Given the description of an element on the screen output the (x, y) to click on. 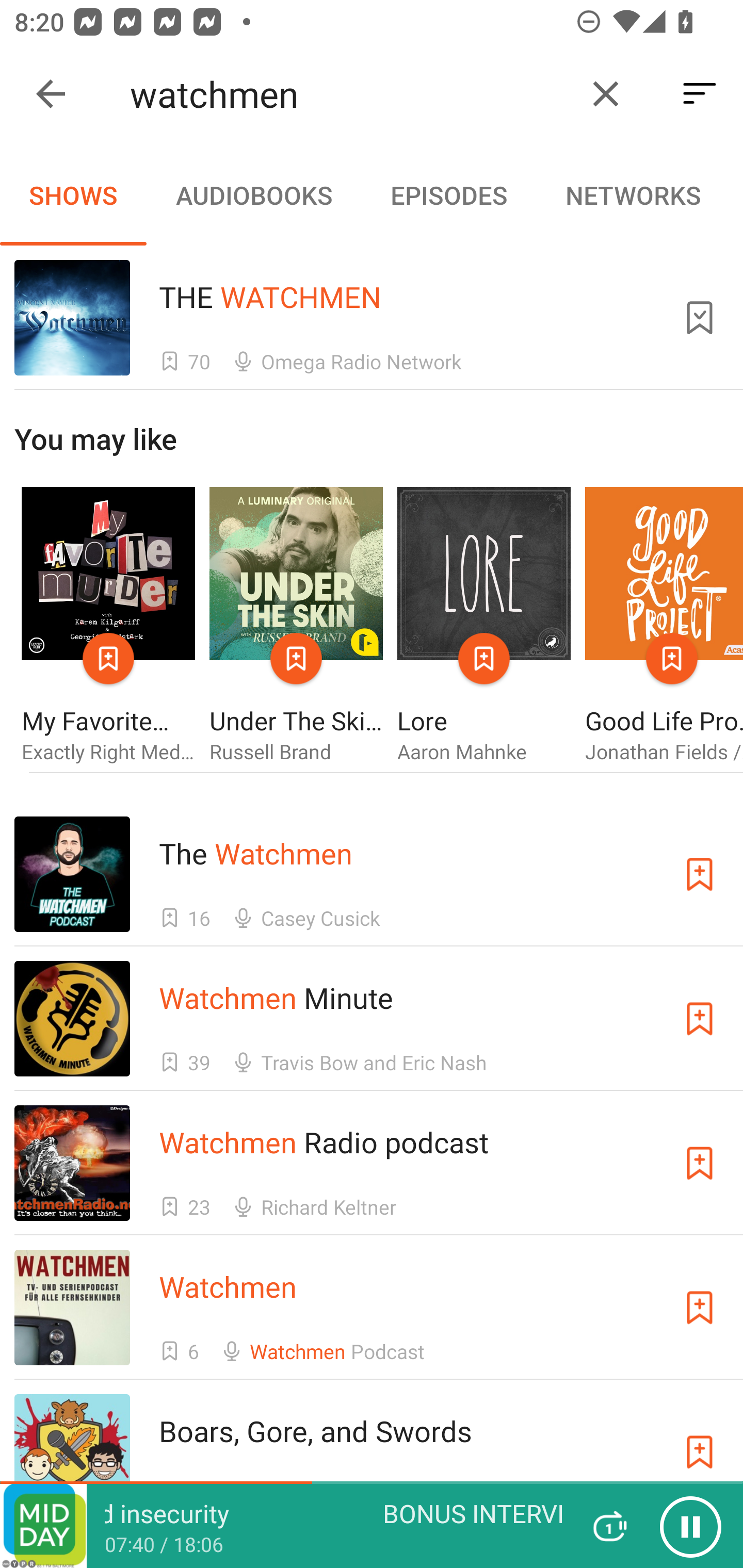
Collapse (50, 93)
Clear query (605, 93)
Sort By (699, 93)
watchmen (349, 94)
SHOWS (73, 195)
AUDIOBOOKS (253, 195)
EPISODES (448, 195)
NETWORKS (632, 195)
Unsubscribe (699, 317)
Under The Skin with Russell Brand Russell Brand (295, 626)
Lore Aaron Mahnke (483, 626)
Good Life Project Jonathan Fields / Acast (664, 626)
